Given the description of an element on the screen output the (x, y) to click on. 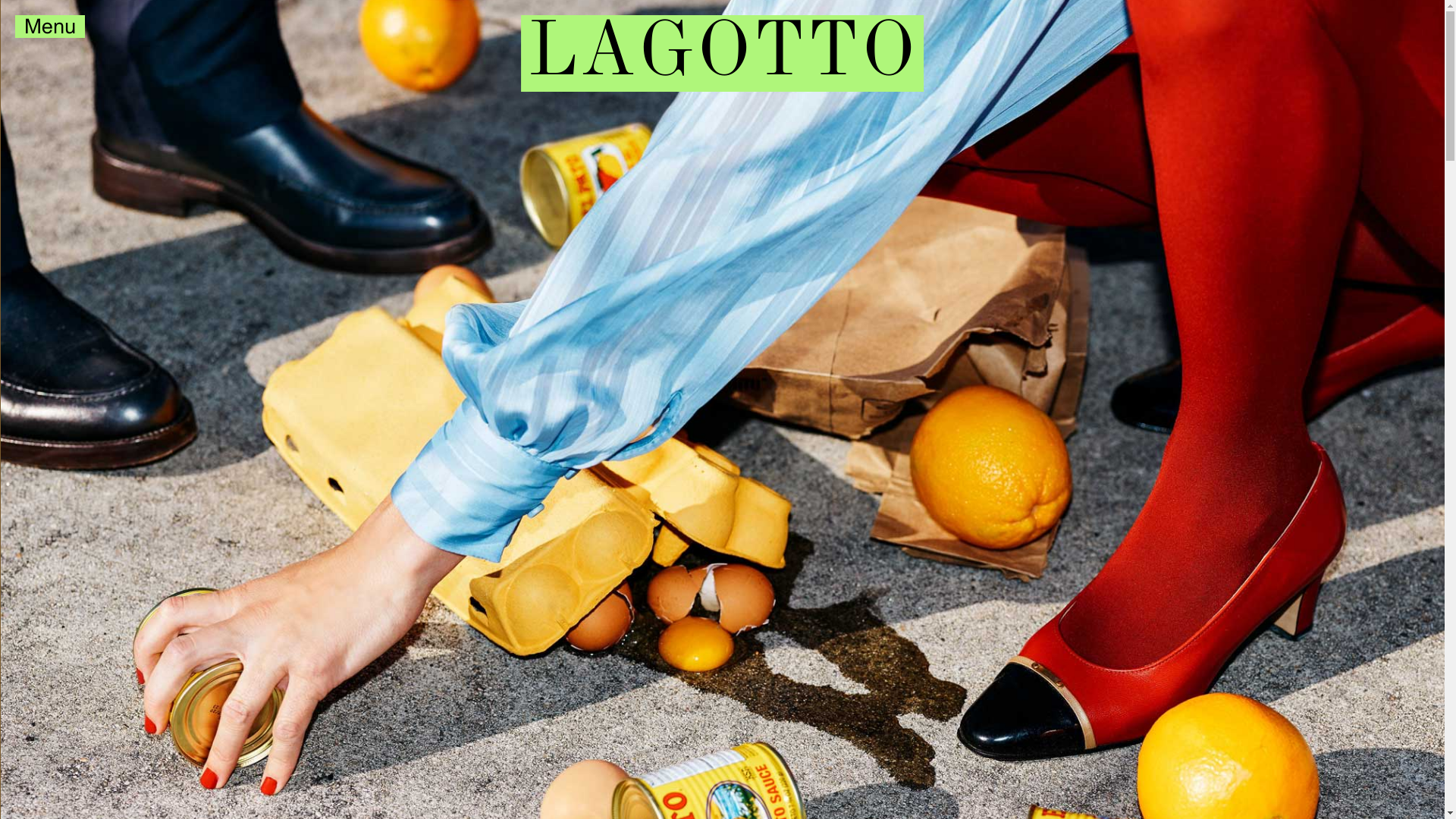
LAGOTTO Element type: text (722, 53)
Menu Element type: text (49, 26)
Menu Element type: text (37, 24)
